Given the description of an element on the screen output the (x, y) to click on. 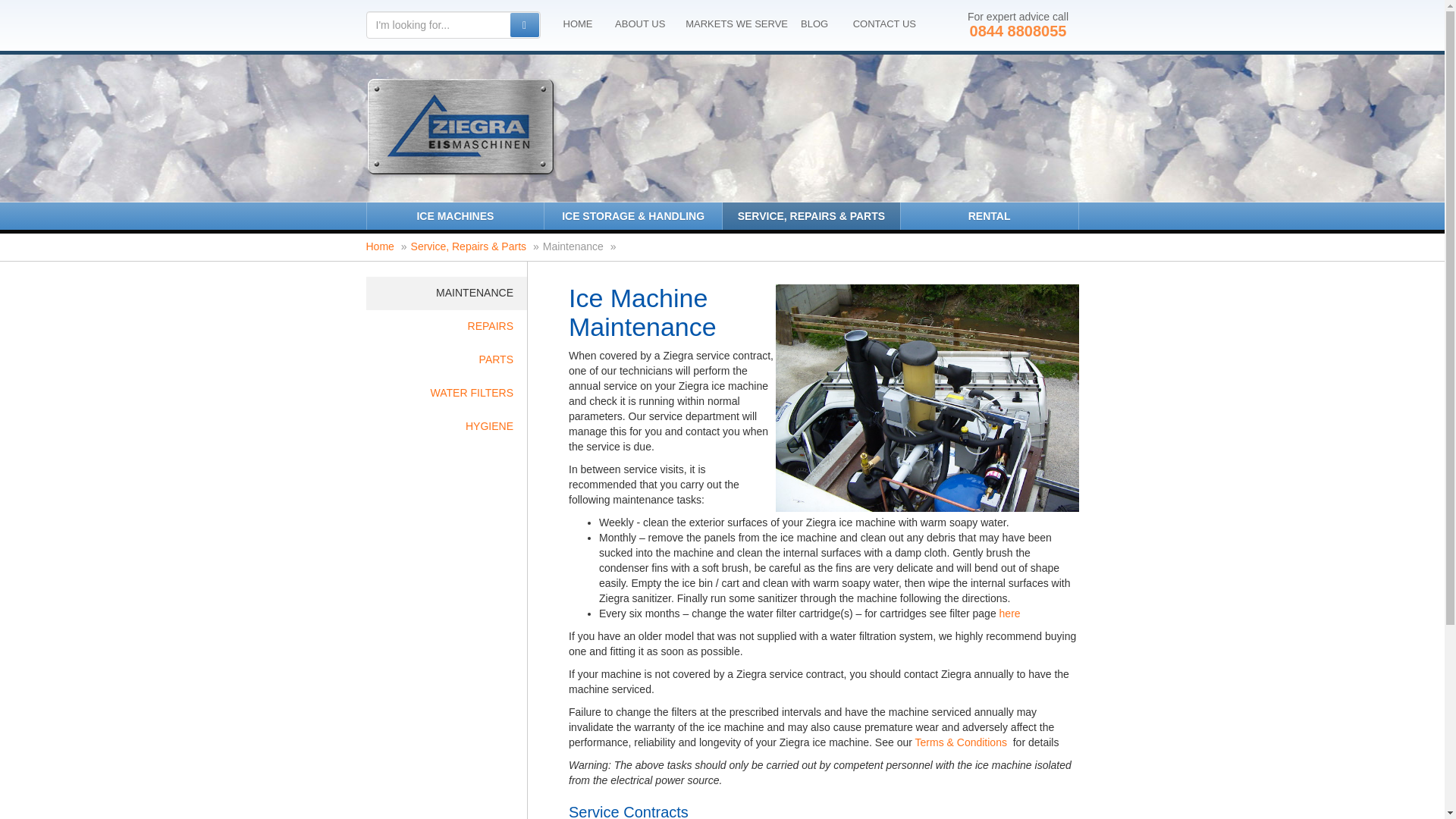
BLOG (814, 24)
ABOUT US (639, 24)
MARKETS WE SERVE (736, 24)
HOME (577, 24)
ICE MACHINES (455, 216)
CONTACT US (884, 24)
